Given the description of an element on the screen output the (x, y) to click on. 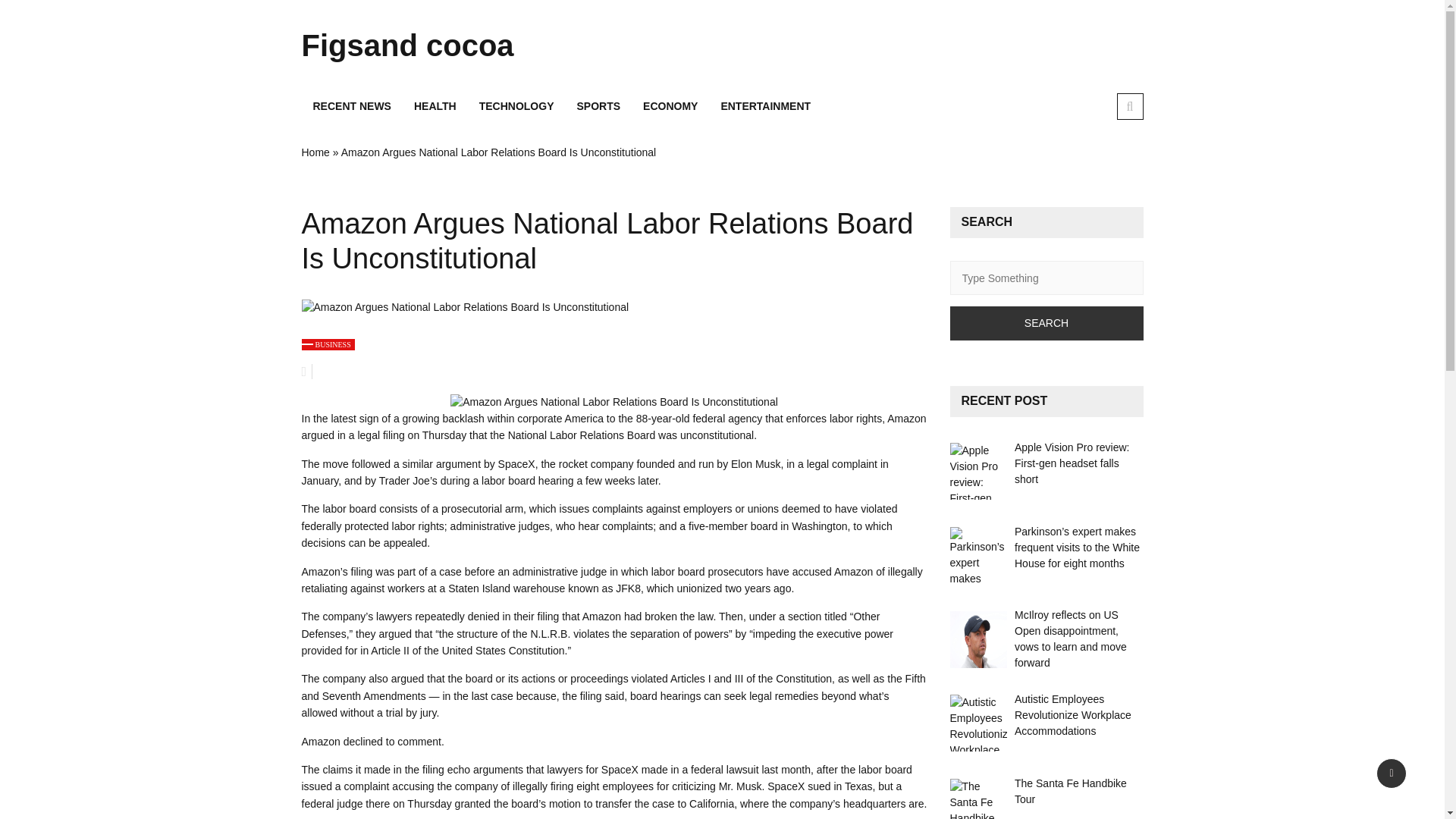
RECENT NEWS (352, 106)
Autistic Employees Revolutionize Workplace Accommodations (977, 722)
ENTERTAINMENT (765, 106)
ECONOMY (670, 106)
The Santa Fe Handbike Tour (977, 798)
TECHNOLOGY (516, 106)
Apple Vision Pro review: First-gen headset falls short (1071, 463)
Home (315, 152)
SPORTS (597, 106)
Apple Vision Pro review: First-gen headset falls short (977, 471)
Search (1045, 323)
Figsand cocoa (434, 44)
